Given the description of an element on the screen output the (x, y) to click on. 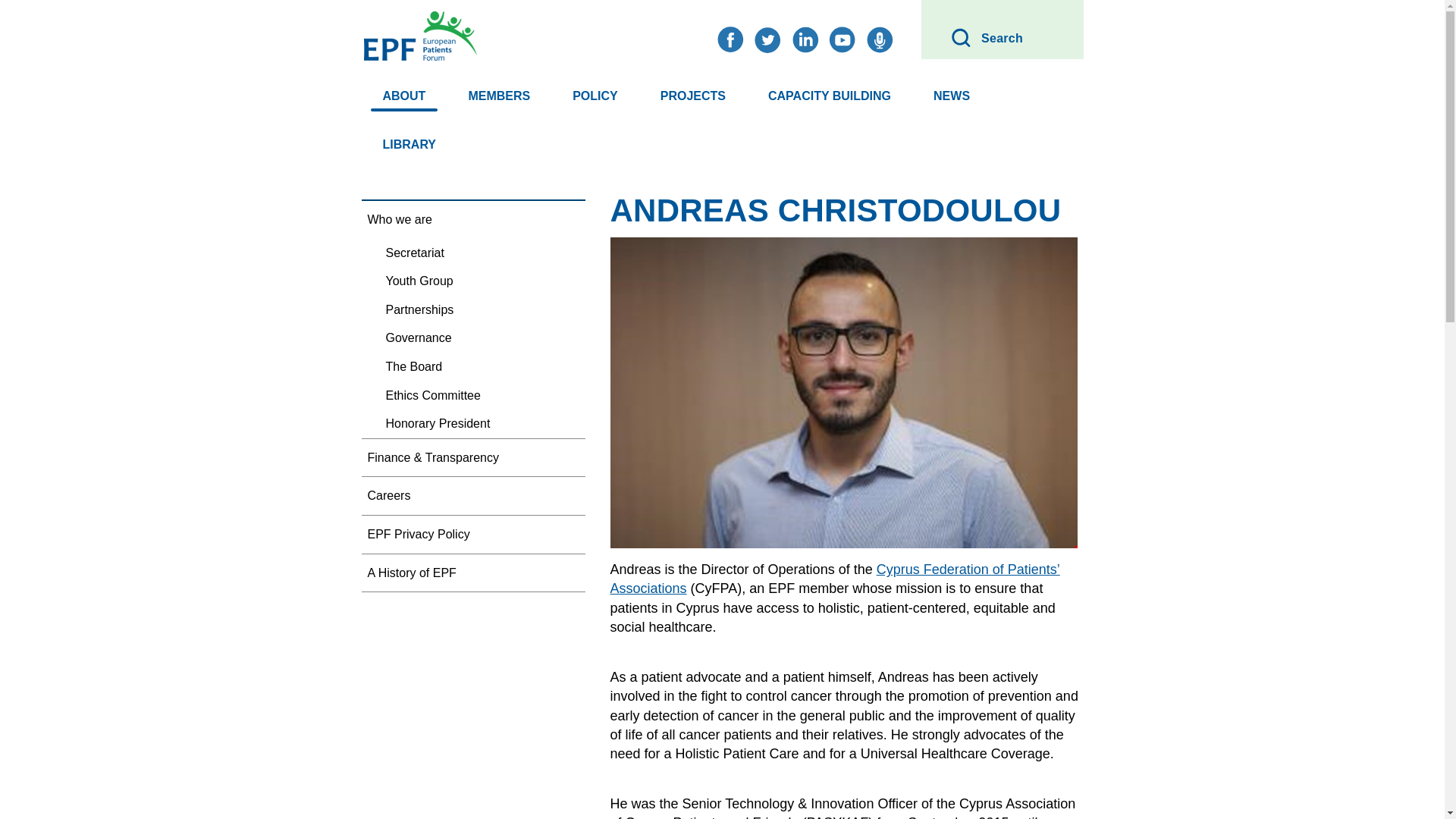
CAPACITY BUILDING (828, 96)
Follow us on Facebook (730, 39)
Skip to main content (19, 19)
Follow us on Anchor (879, 39)
ABOUT (403, 96)
LIBRARY (1001, 38)
POLICY (408, 144)
MEMBERS (595, 96)
Follow us on Twitter (498, 96)
Follow us on Linkedin (767, 39)
NEWS (804, 39)
PROJECTS (951, 96)
Follow us on Youtube (692, 96)
